Given the description of an element on the screen output the (x, y) to click on. 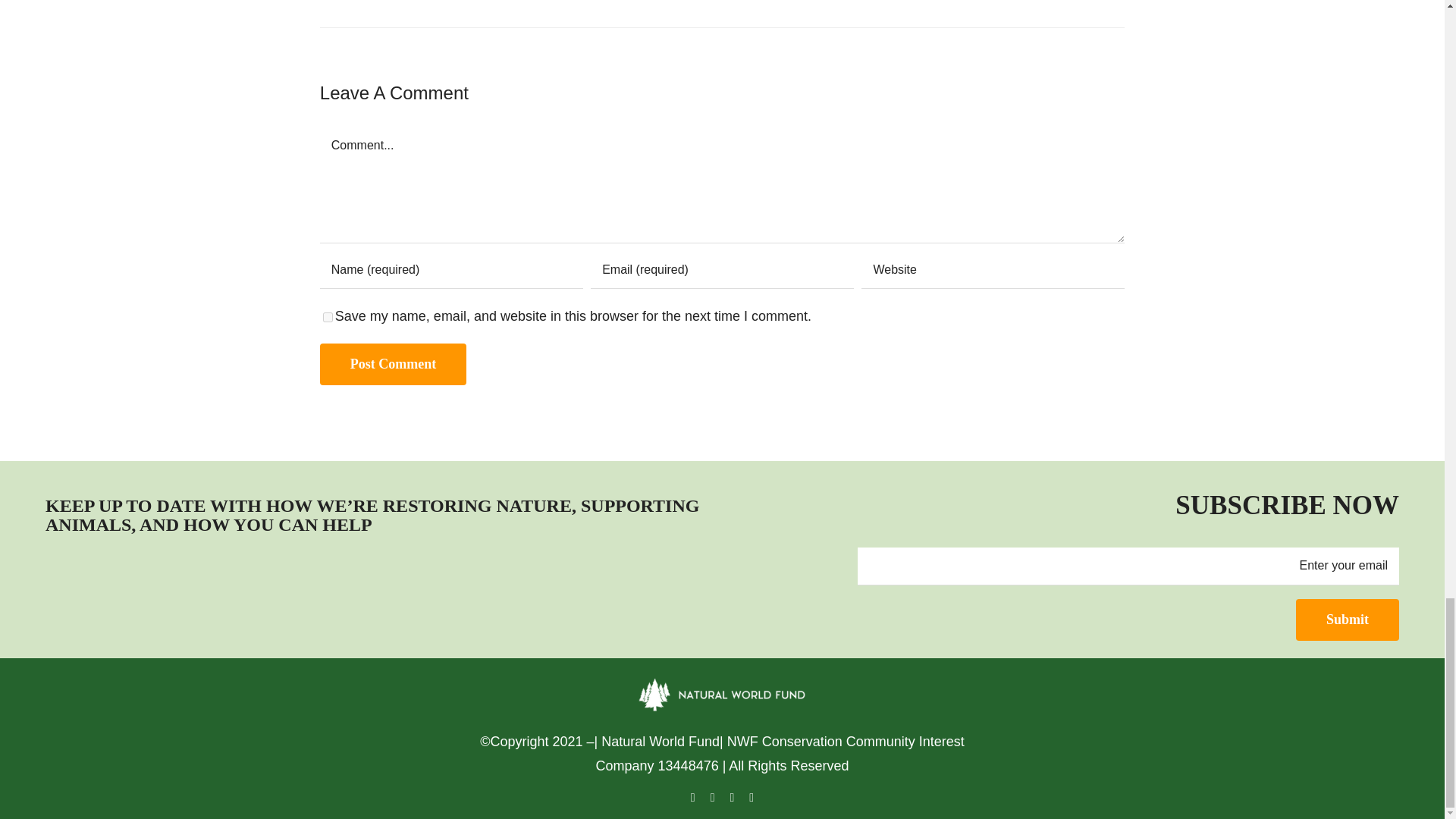
3 (120, 591)
Submit (1347, 619)
Post Comment (392, 363)
Submit (1347, 619)
yes (328, 317)
Post Comment (392, 363)
